Given the description of an element on the screen output the (x, y) to click on. 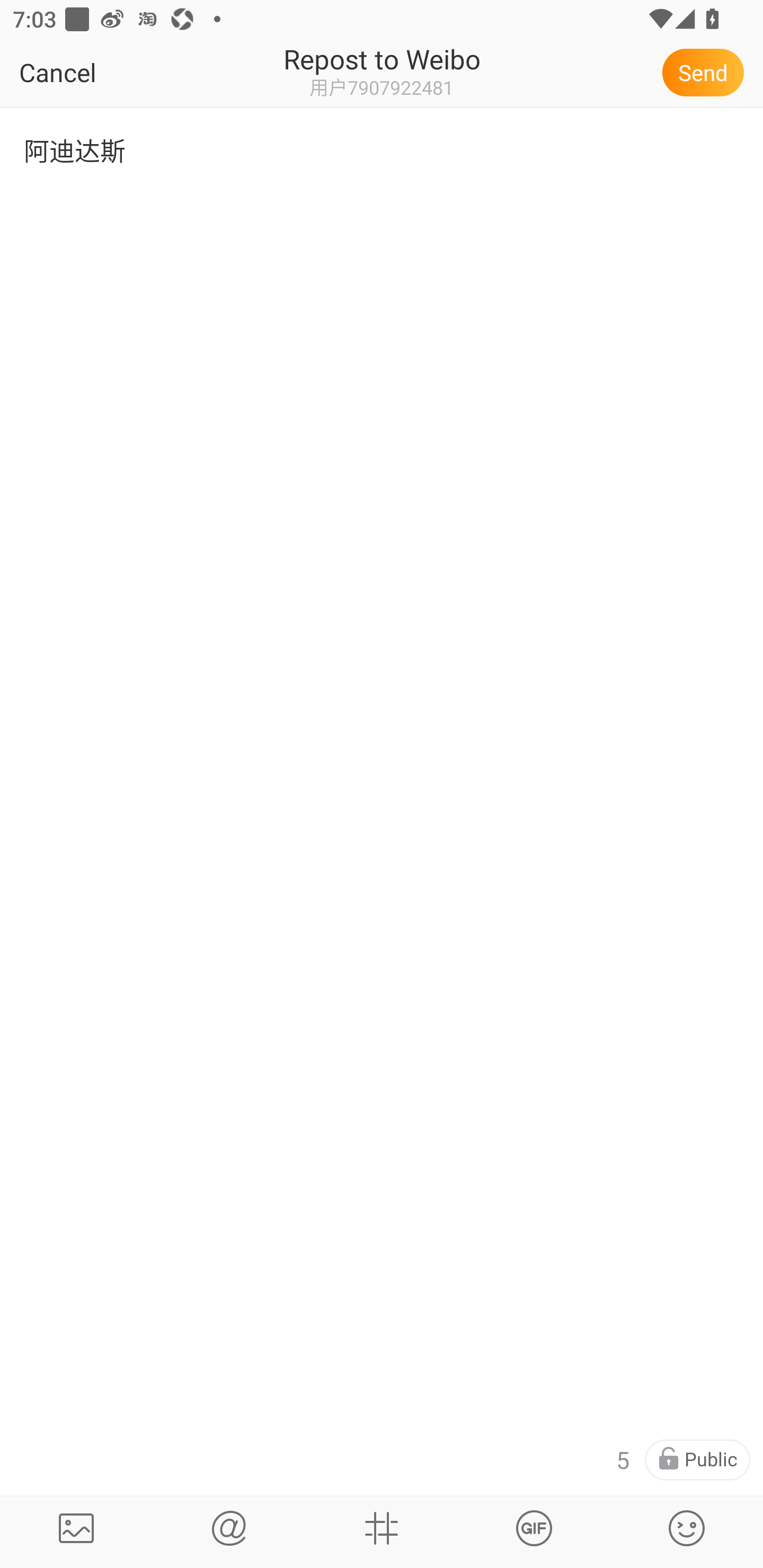
Cancel (99, 71)
Send (706, 71)
阿迪达斯
 (381, 179)
Meyou Public (697, 1459)
5 Number of words available: (621, 1459)
Pictures Upload (76, 1527)
Search (228, 1527)
Topics, movies, books, songs, places, stocks (381, 1527)
Topics, movies, books, songs, places, stocks (533, 1527)
请插入表情 (686, 1527)
